Given the description of an element on the screen output the (x, y) to click on. 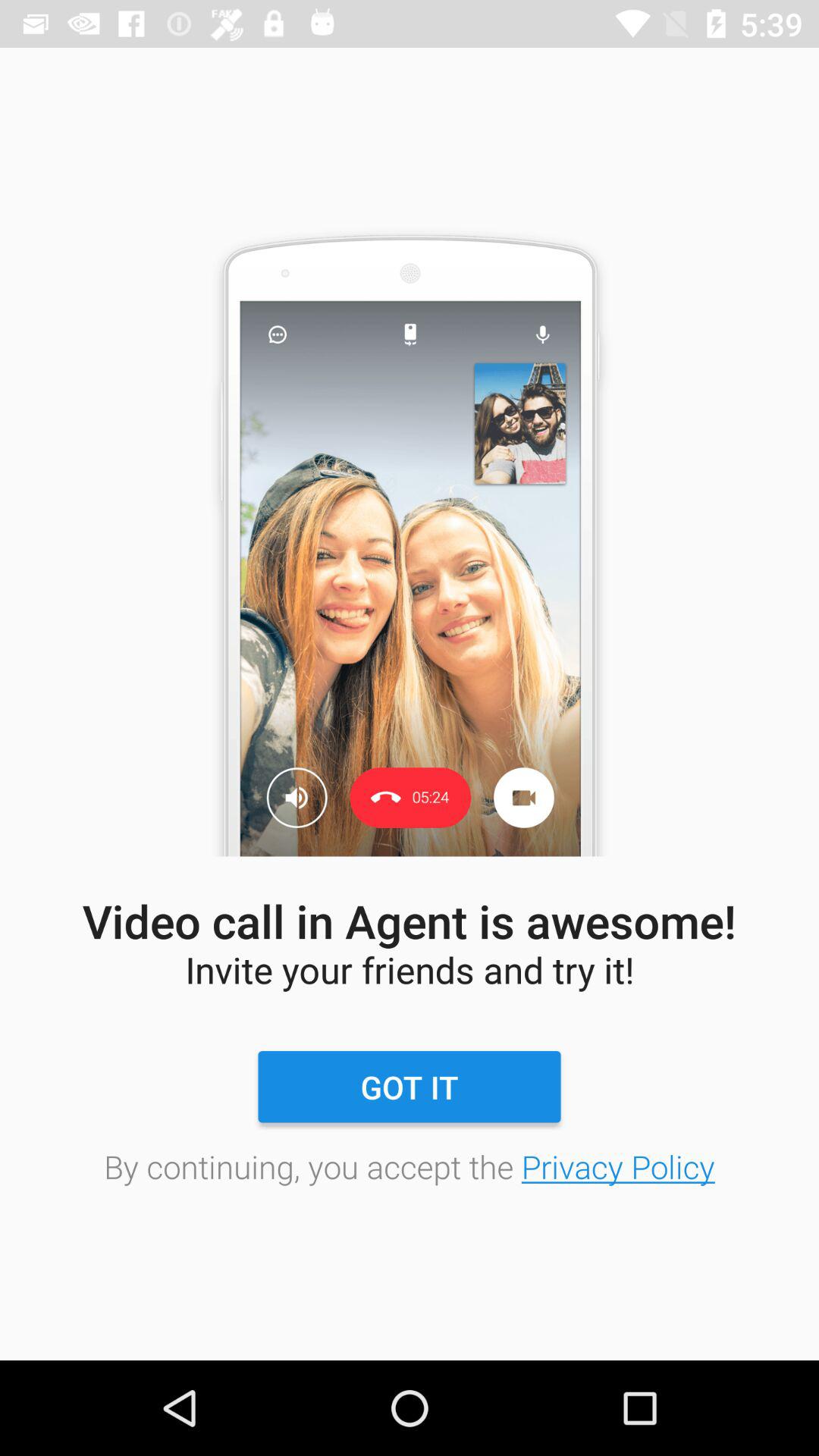
turn on the item above by continuing you item (409, 1086)
